Given the description of an element on the screen output the (x, y) to click on. 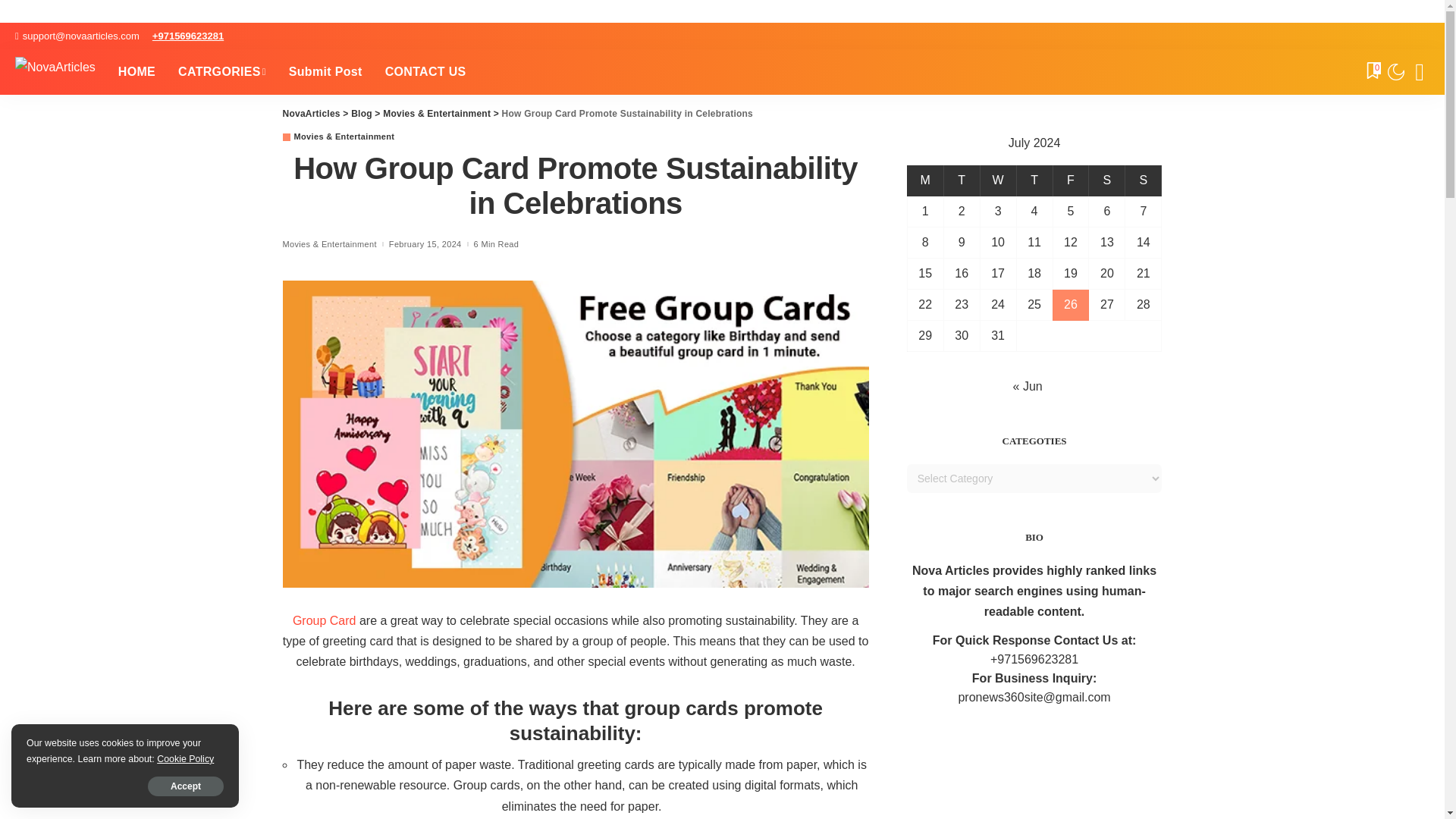
Submit Post (326, 72)
NovaArticles (55, 71)
CATRGORIES (222, 72)
HOME (136, 72)
